Given the description of an element on the screen output the (x, y) to click on. 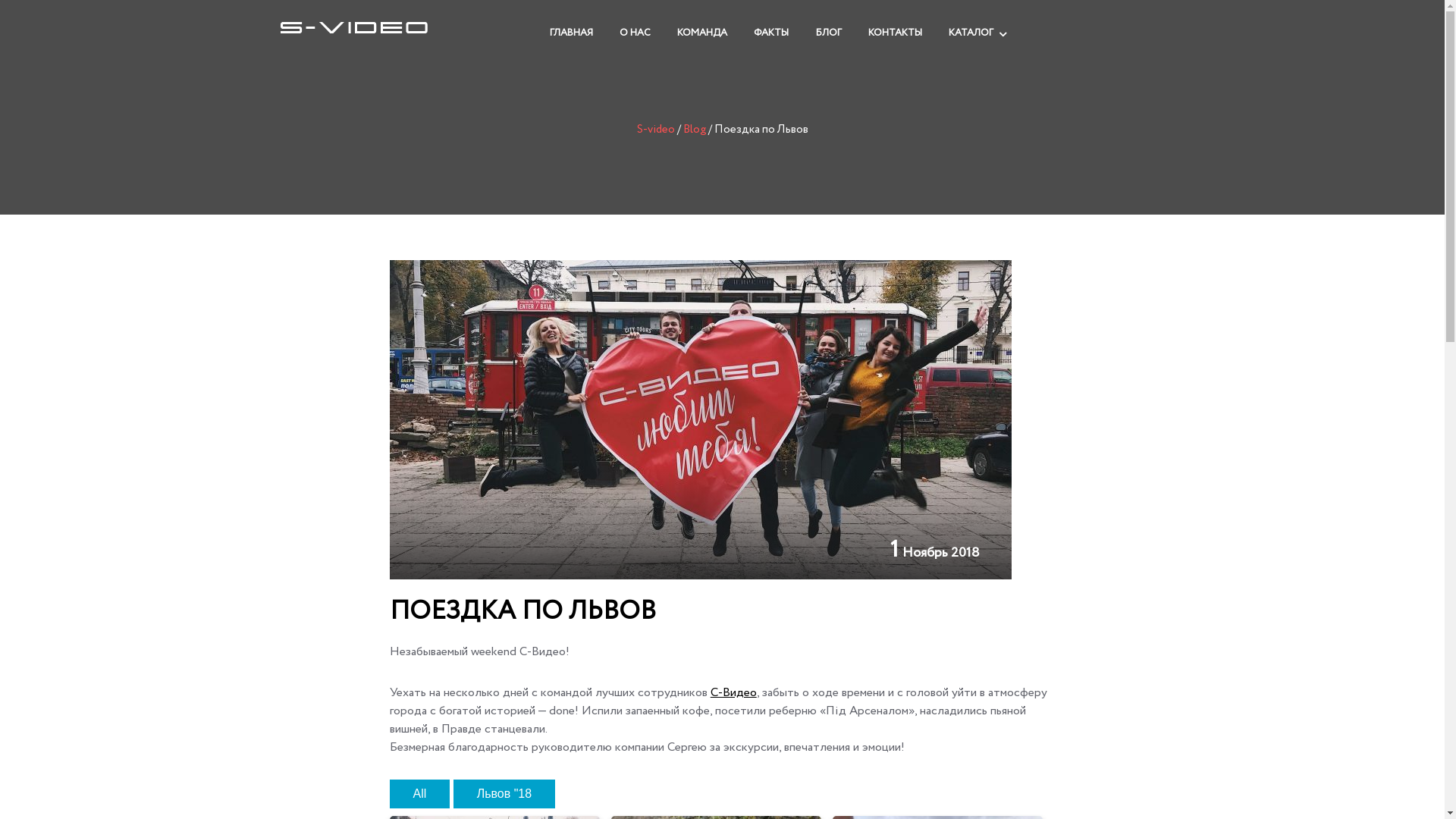
S-video Element type: text (655, 129)
All Element type: text (419, 793)
Blog Element type: text (693, 129)
